Given the description of an element on the screen output the (x, y) to click on. 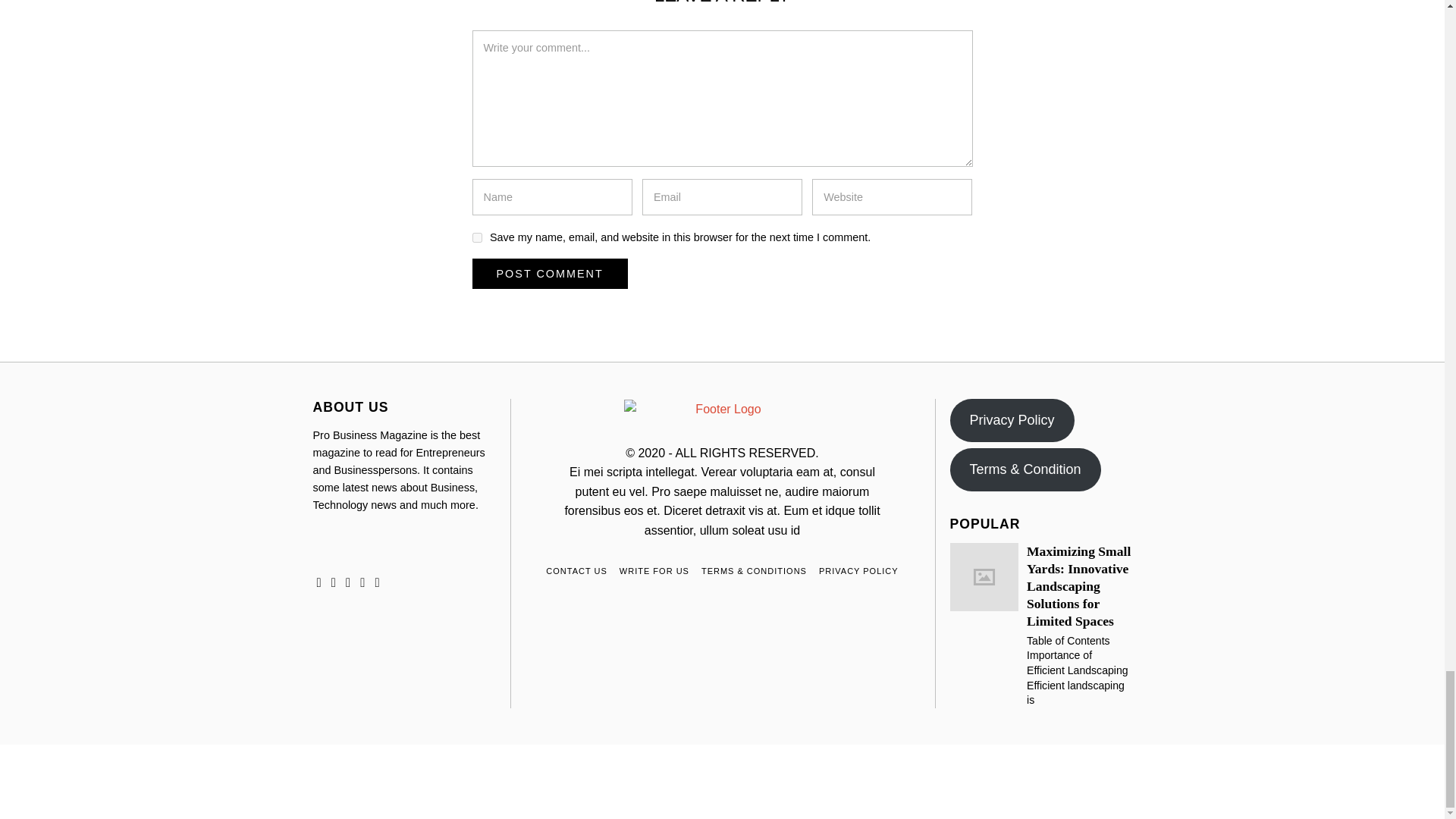
Post Comment (549, 273)
yes (476, 237)
Post Comment (549, 273)
